Given the description of an element on the screen output the (x, y) to click on. 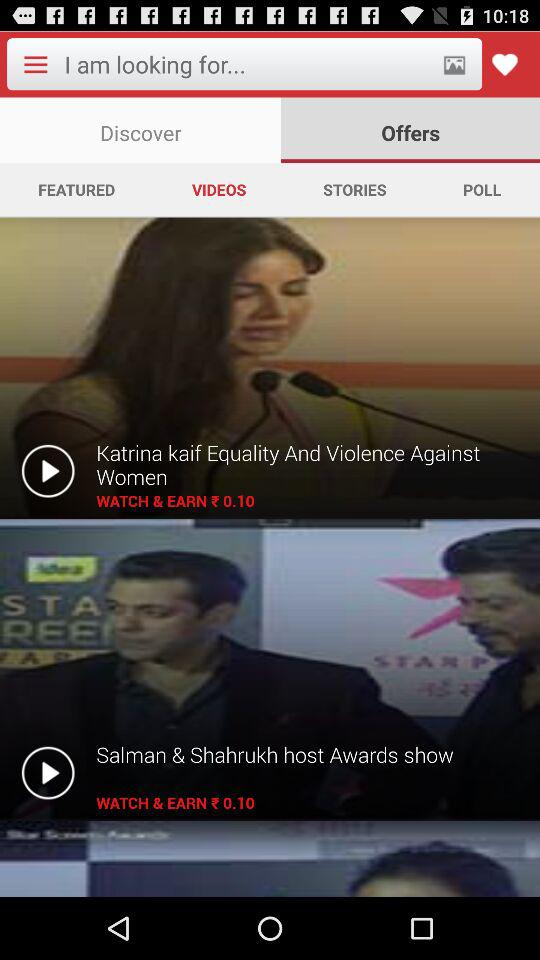
launch item above discover icon (35, 64)
